Given the description of an element on the screen output the (x, y) to click on. 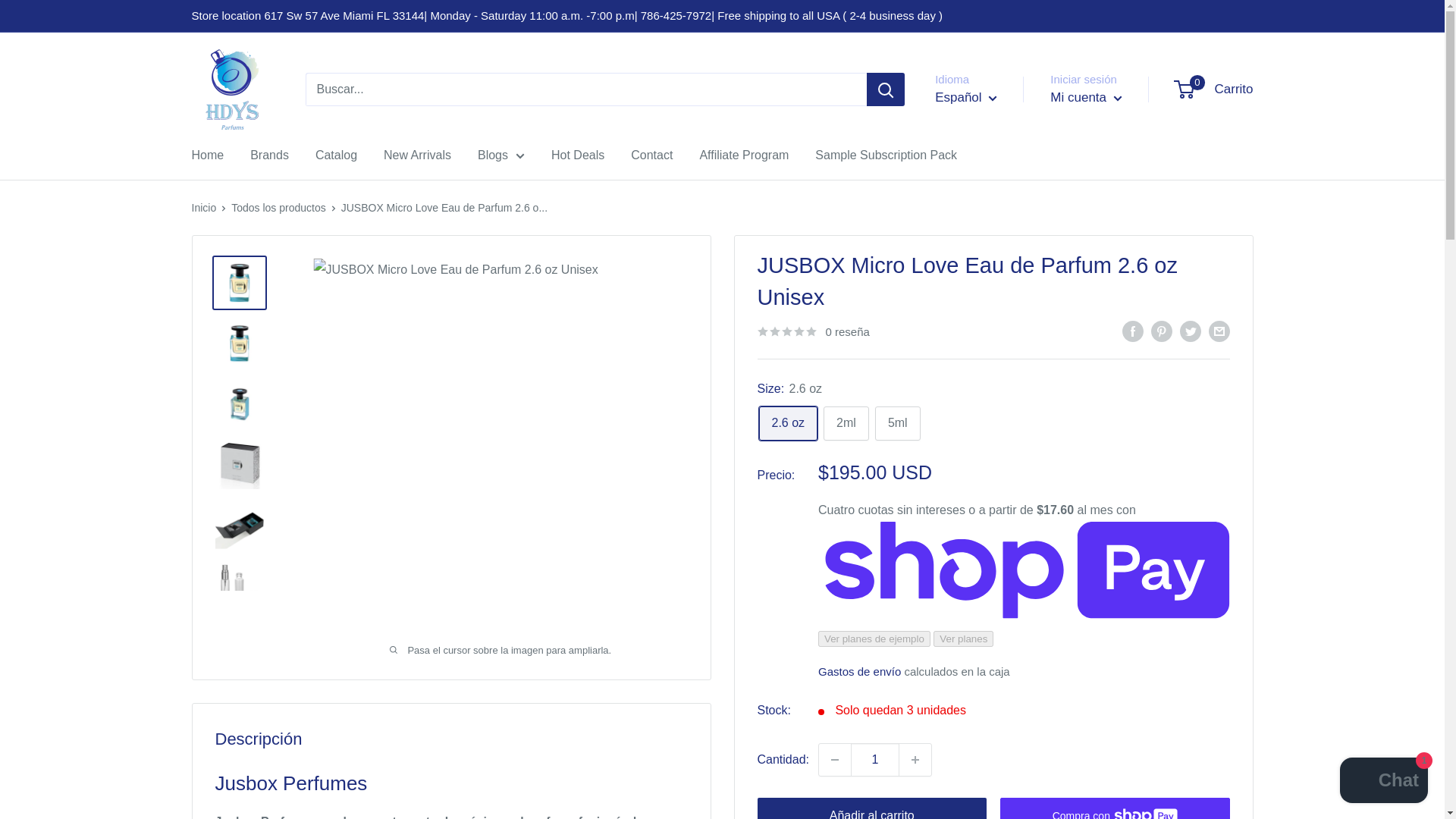
en (980, 138)
Aumentar la cantidad en 1 (915, 759)
Disminuir la cantidad en 1 (834, 759)
Home (207, 155)
2.6 oz (787, 423)
1 (874, 759)
es (980, 162)
Blogs (500, 155)
HDYS Parfums (232, 89)
Mi cuenta (1213, 88)
5ml (1085, 97)
Catalog (897, 423)
Brands (335, 155)
2ml (269, 155)
